Given the description of an element on the screen output the (x, y) to click on. 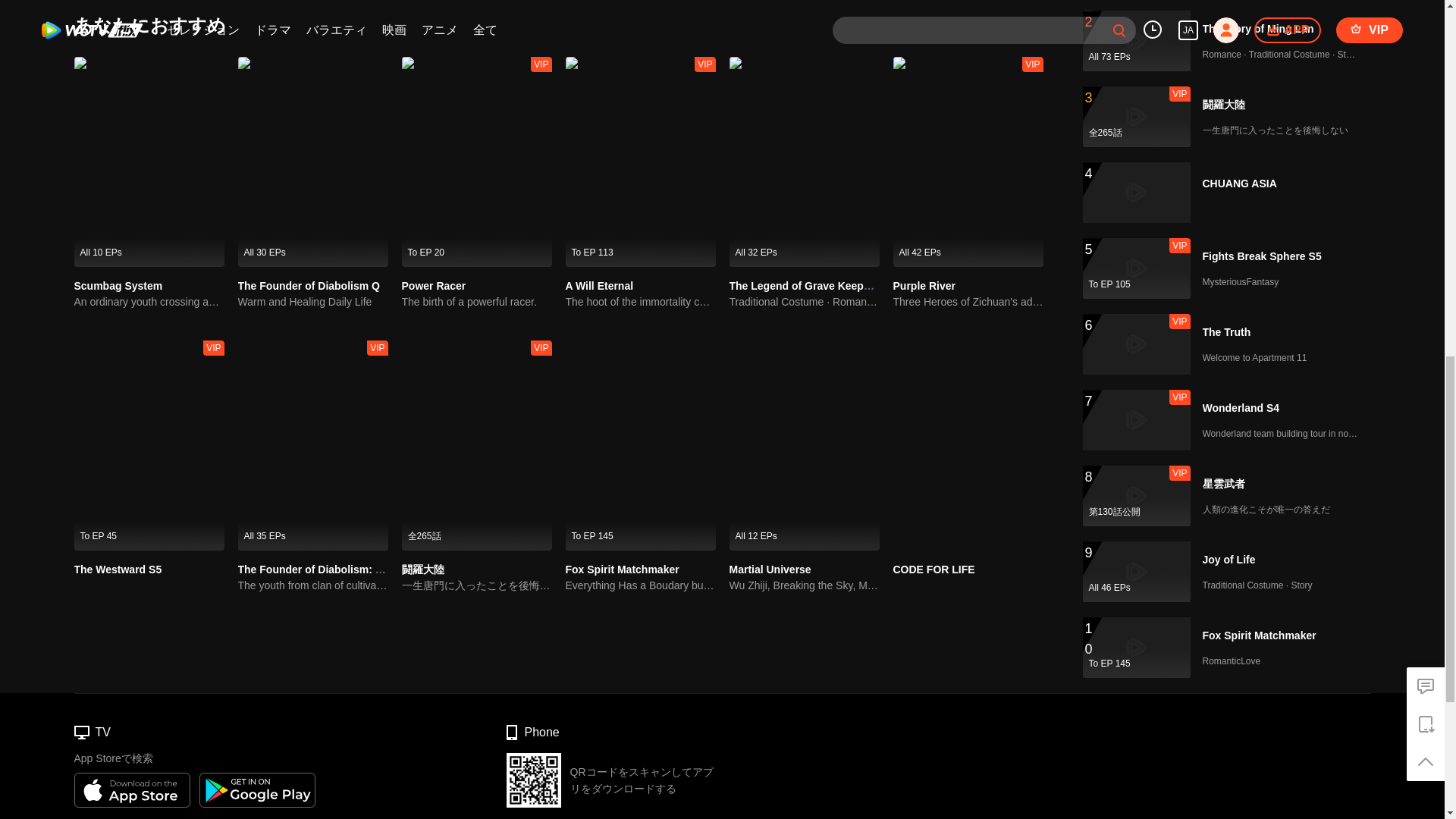
The hoot of the immortality cultivation world is back! (641, 302)
Warm and Healing Daily Life (313, 302)
The Legend of Grave Keepers (804, 285)
Three Heroes of Zichuan's adventure on Xichuan Continent (968, 302)
A Will Eternal (599, 285)
Scumbag System (118, 285)
The Founder of Diabolism Q (309, 285)
The birth of a powerful racer. (476, 302)
Purple River (924, 285)
The Westward S5 (117, 569)
